Given the description of an element on the screen output the (x, y) to click on. 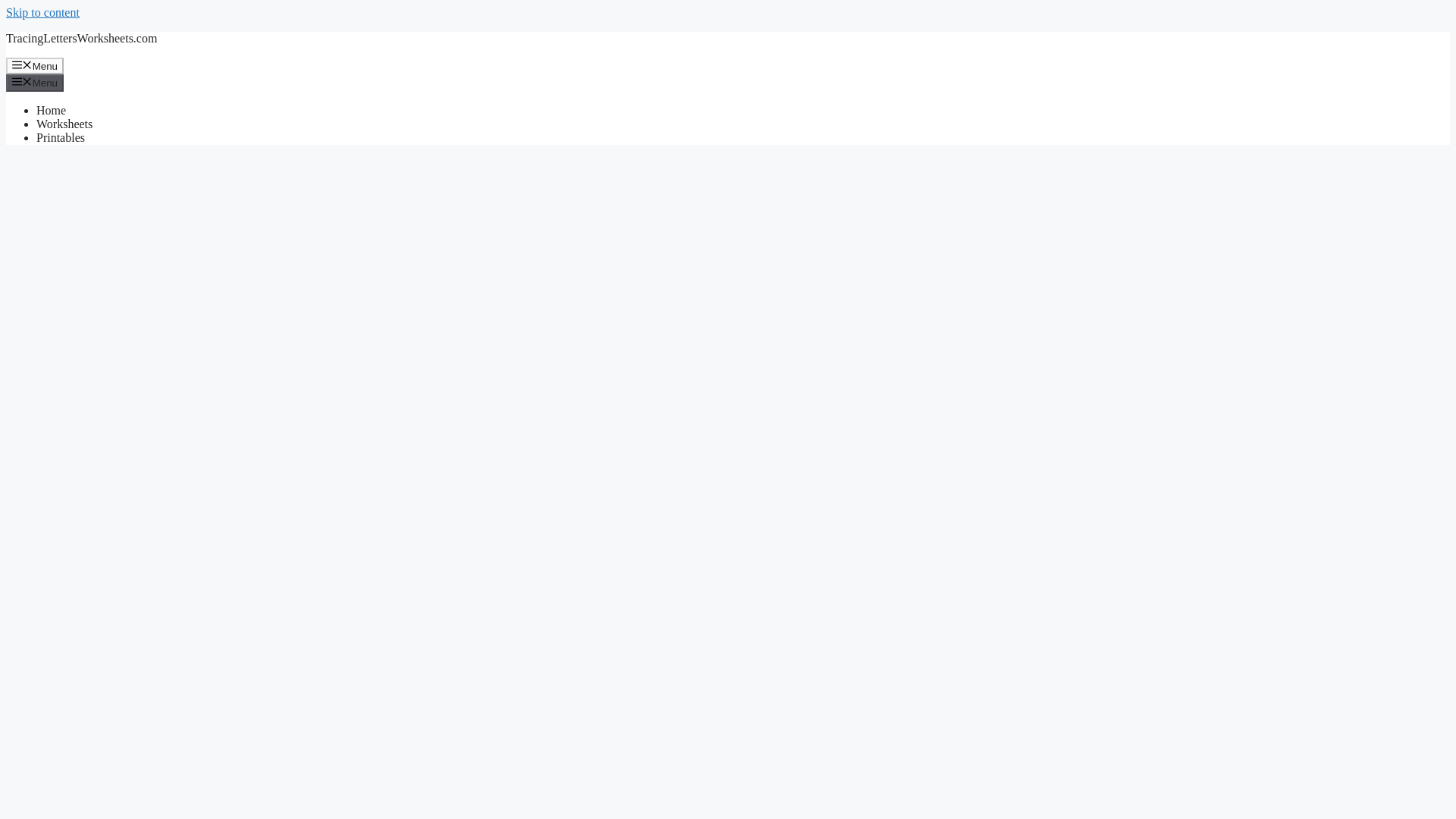
TracingLettersWorksheets.com (81, 38)
Skip to content (42, 11)
Menu (34, 65)
Home (50, 110)
Menu (34, 82)
Skip to content (42, 11)
Worksheets (64, 123)
